Given the description of an element on the screen output the (x, y) to click on. 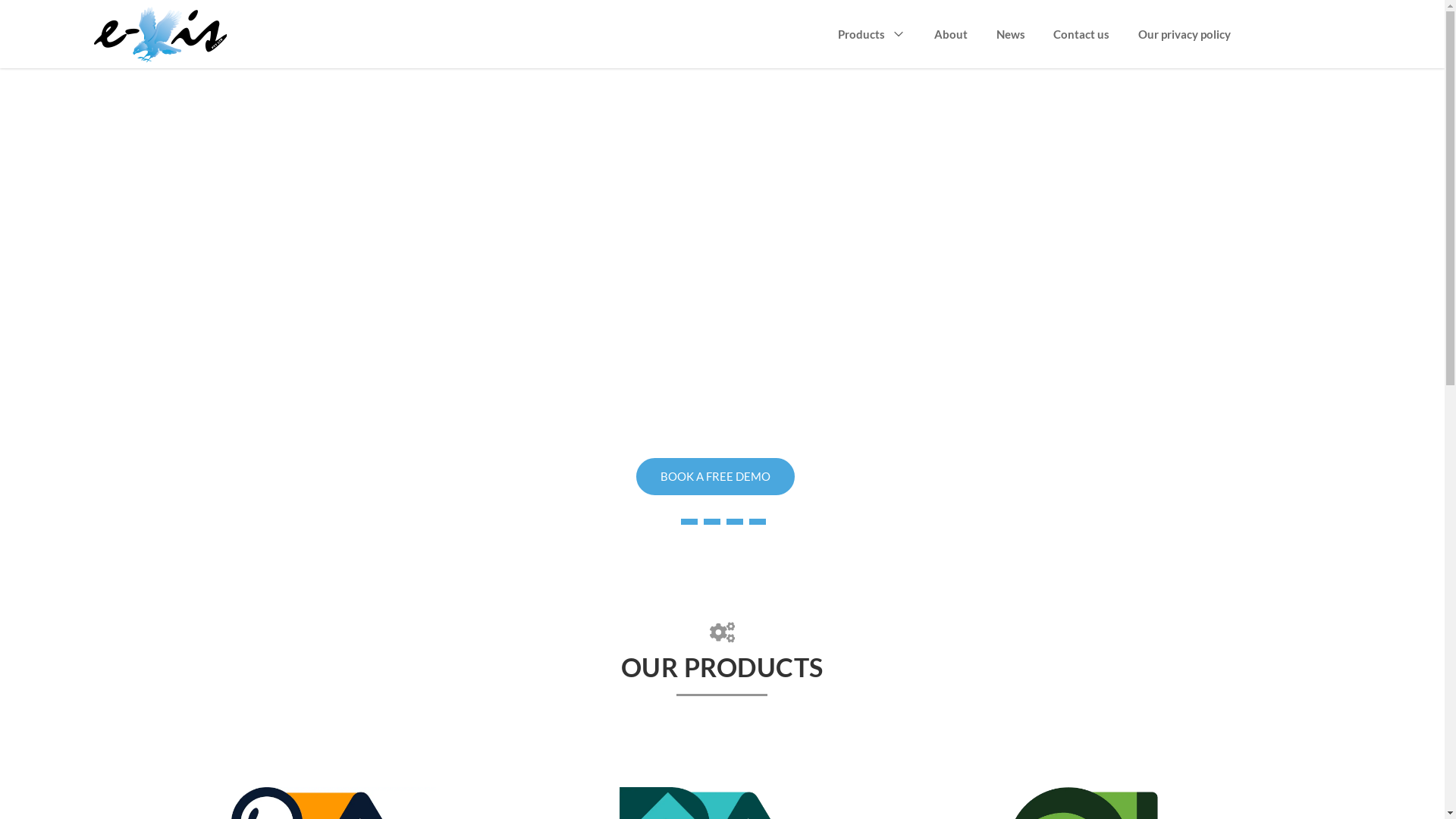
Contact us Element type: text (1081, 34)
BOOK A FREE DEMO Element type: text (715, 476)
About Element type: text (950, 34)
News Element type: text (1010, 34)
Our privacy policy Element type: text (1184, 34)
